Given the description of an element on the screen output the (x, y) to click on. 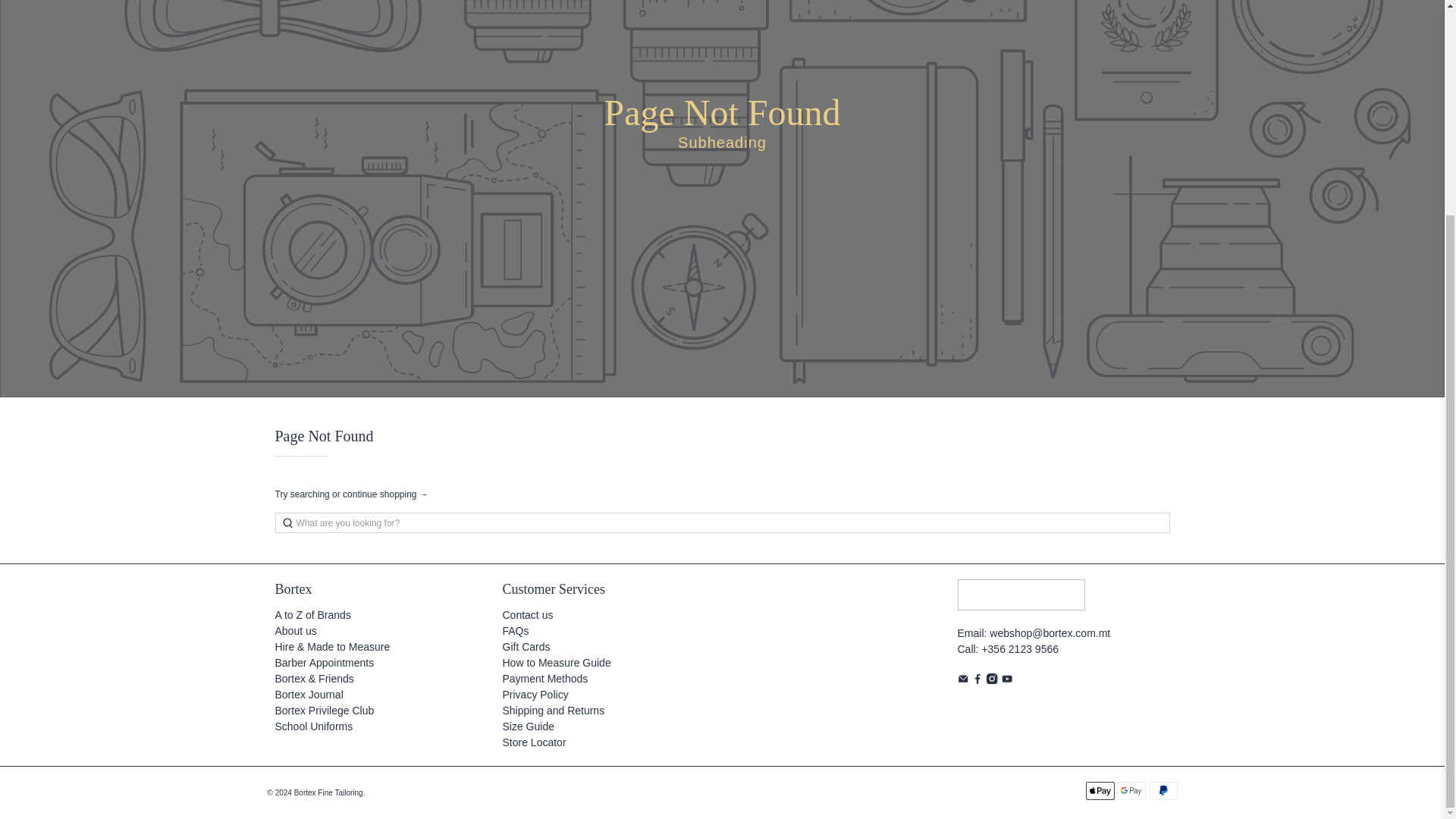
Google Pay (1130, 791)
Apple Pay (1100, 791)
Bortex Fine Tailoring (1020, 602)
PayPal (1162, 791)
